Given the description of an element on the screen output the (x, y) to click on. 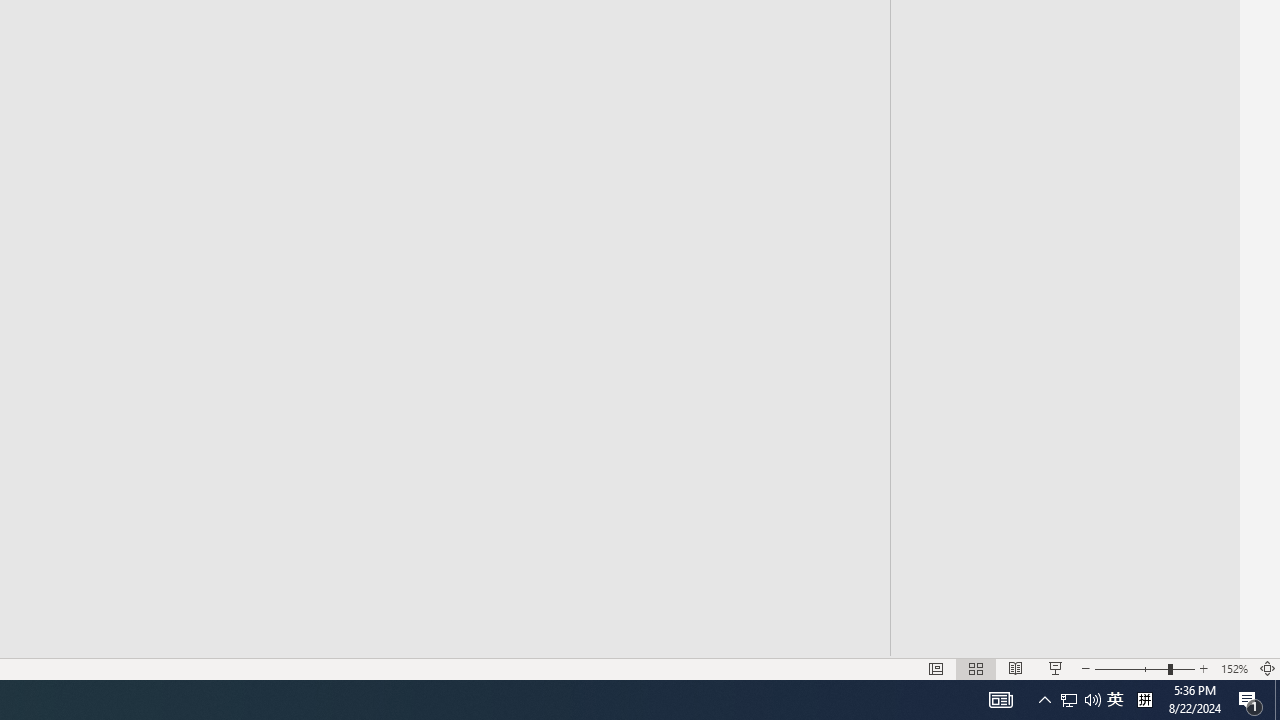
Zoom 152% (1234, 668)
